Given the description of an element on the screen output the (x, y) to click on. 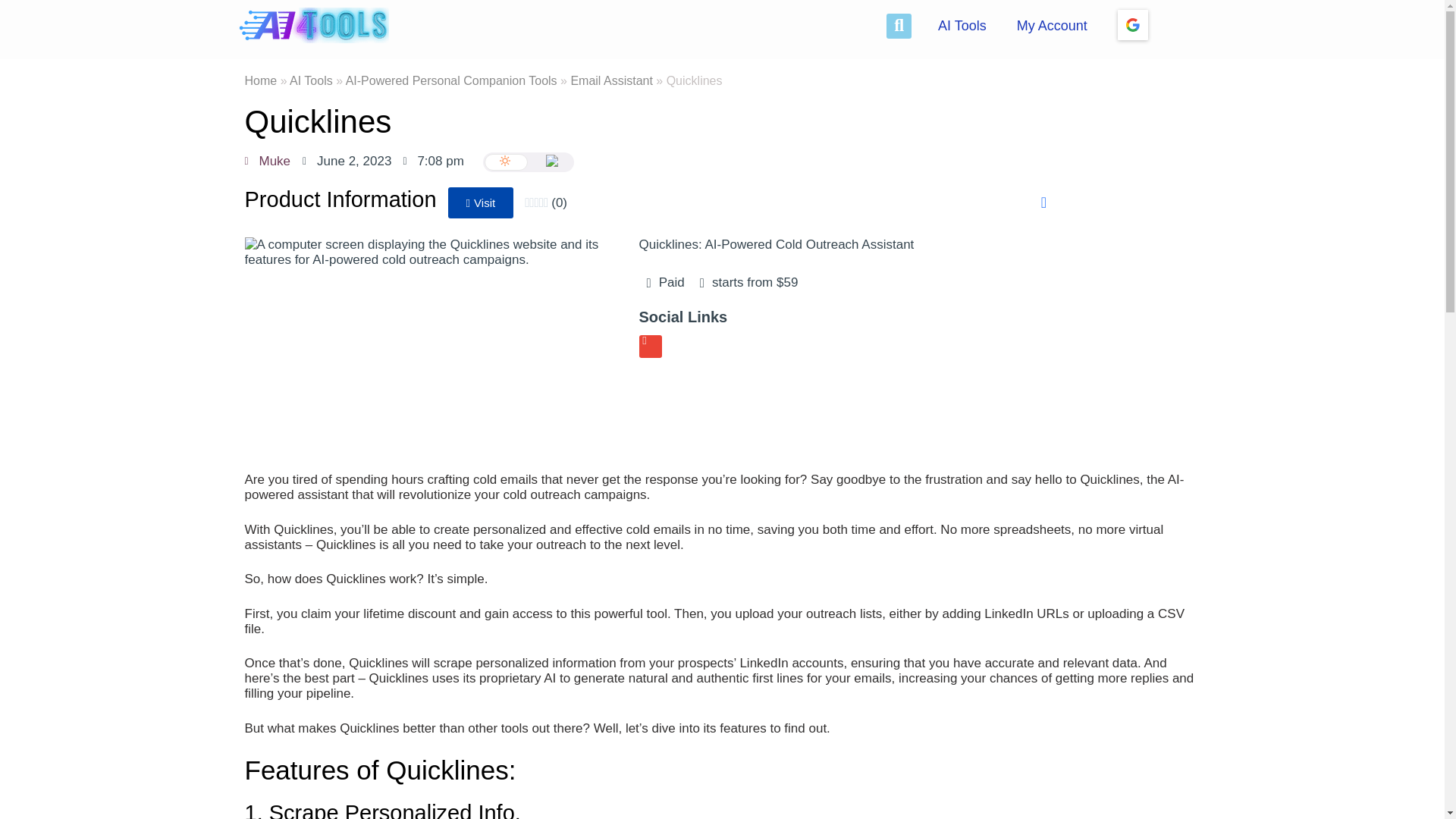
My Account (1051, 25)
Email Assistant (611, 80)
Home (260, 80)
AI Tools (962, 25)
Muke (266, 160)
AI-Powered Personal Companion Tools (451, 80)
AI Tools (311, 80)
Visit (480, 202)
